Given the description of an element on the screen output the (x, y) to click on. 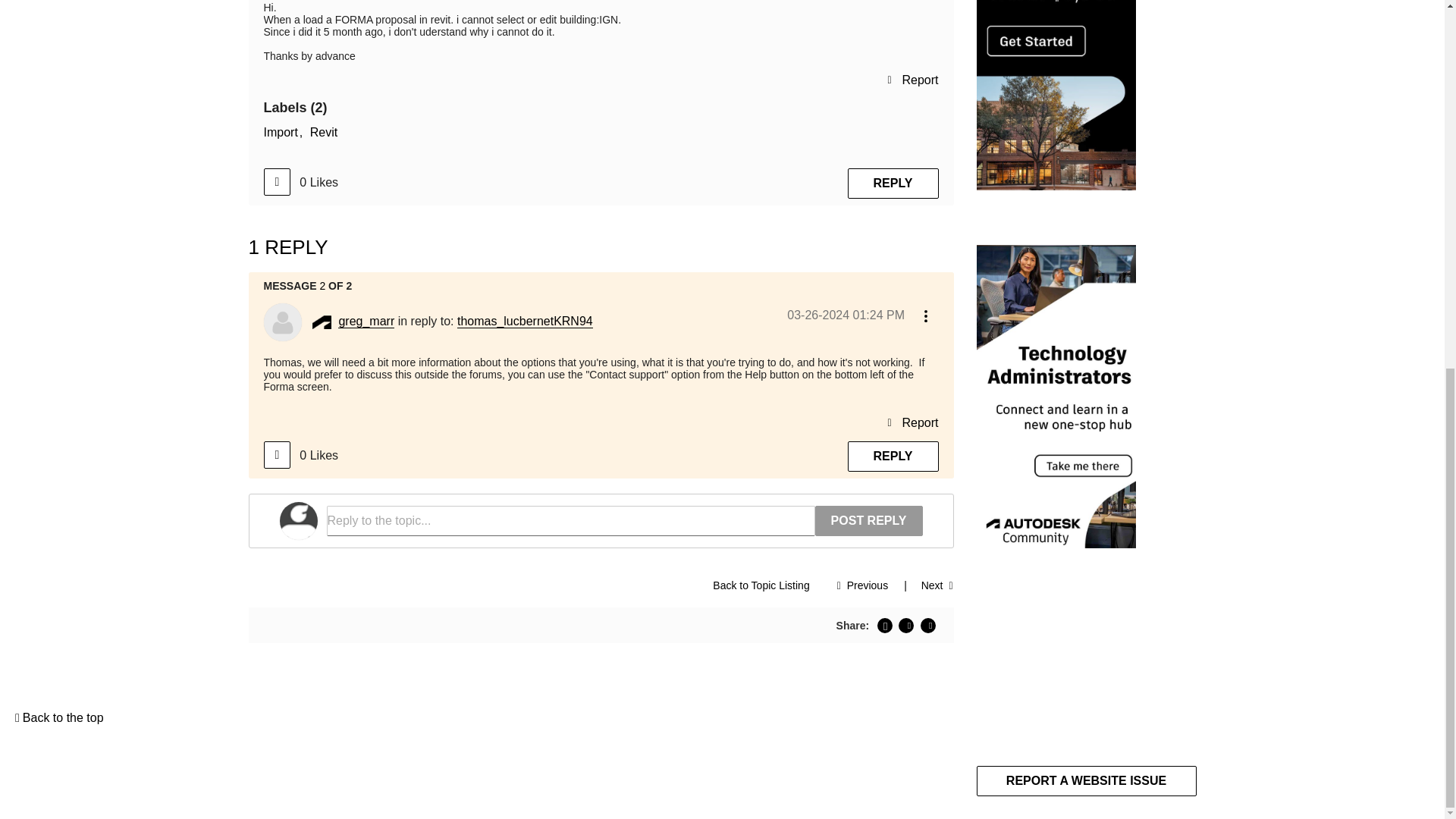
Back to the top (59, 717)
Report (911, 79)
Import (282, 132)
Revit (323, 132)
Back to the top (59, 717)
REPLY (893, 183)
